Given the description of an element on the screen output the (x, y) to click on. 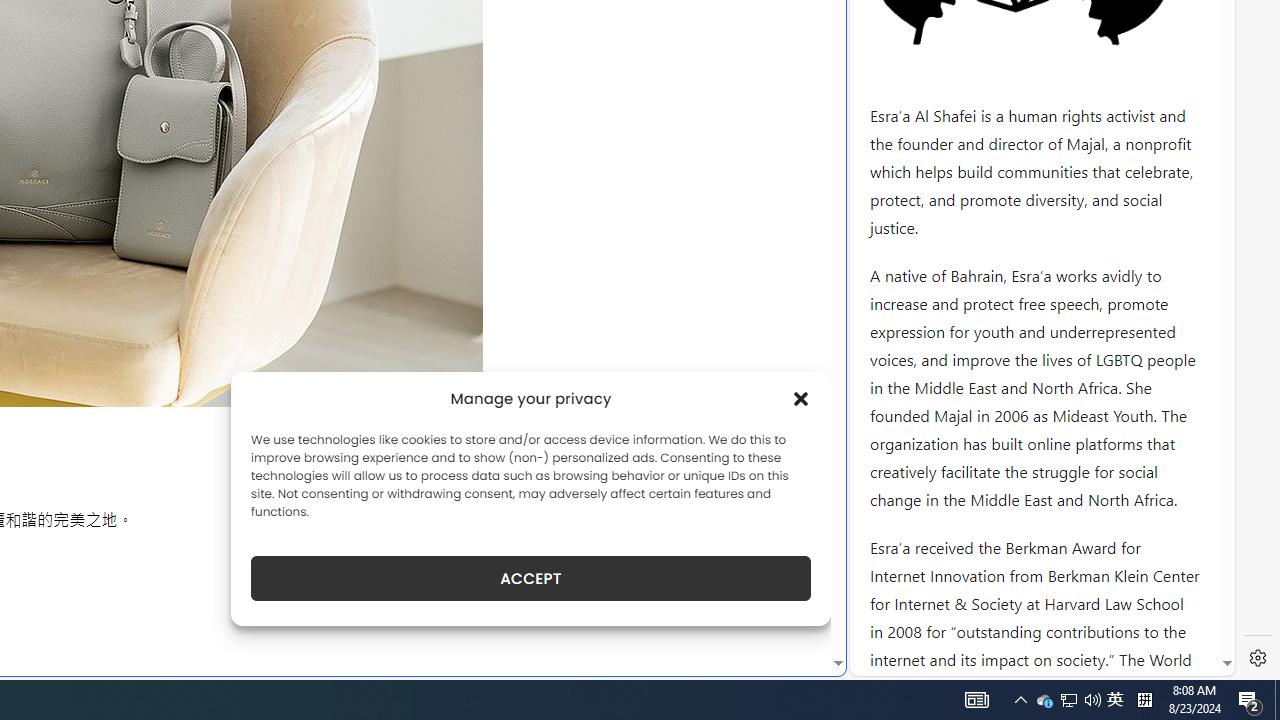
Class: cmplz-close (801, 398)
ACCEPT (530, 578)
